Given the description of an element on the screen output the (x, y) to click on. 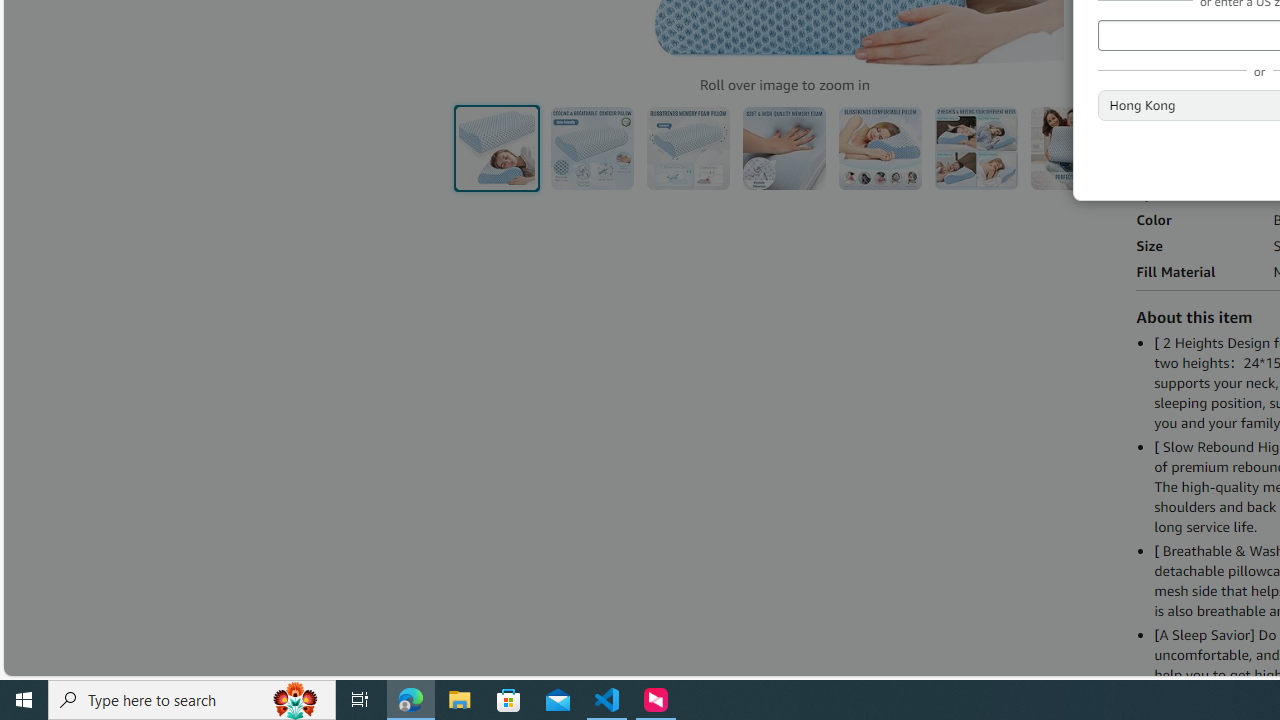
Blue (1156, 41)
Blue (1156, 41)
Pink (1252, 42)
Grey (1204, 42)
Grey (1204, 42)
Pink (1252, 42)
Standard (1178, 123)
